Given the description of an element on the screen output the (x, y) to click on. 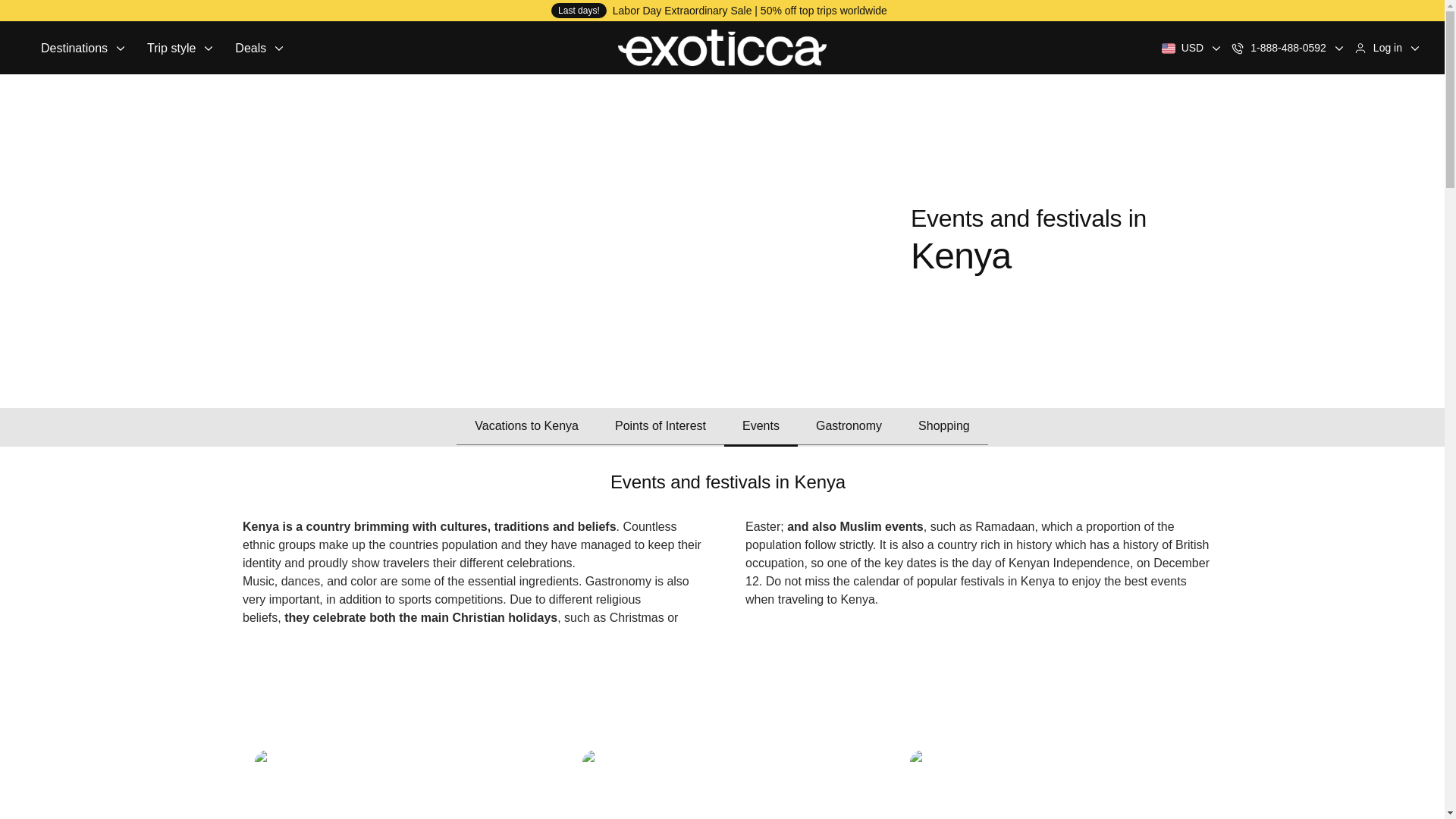
arrow-icon (1414, 47)
arrow-icon (120, 47)
arrow-icon (1338, 47)
arrow-icon (208, 47)
arrow-icon (1216, 47)
arrow-icon (83, 47)
